Given the description of an element on the screen output the (x, y) to click on. 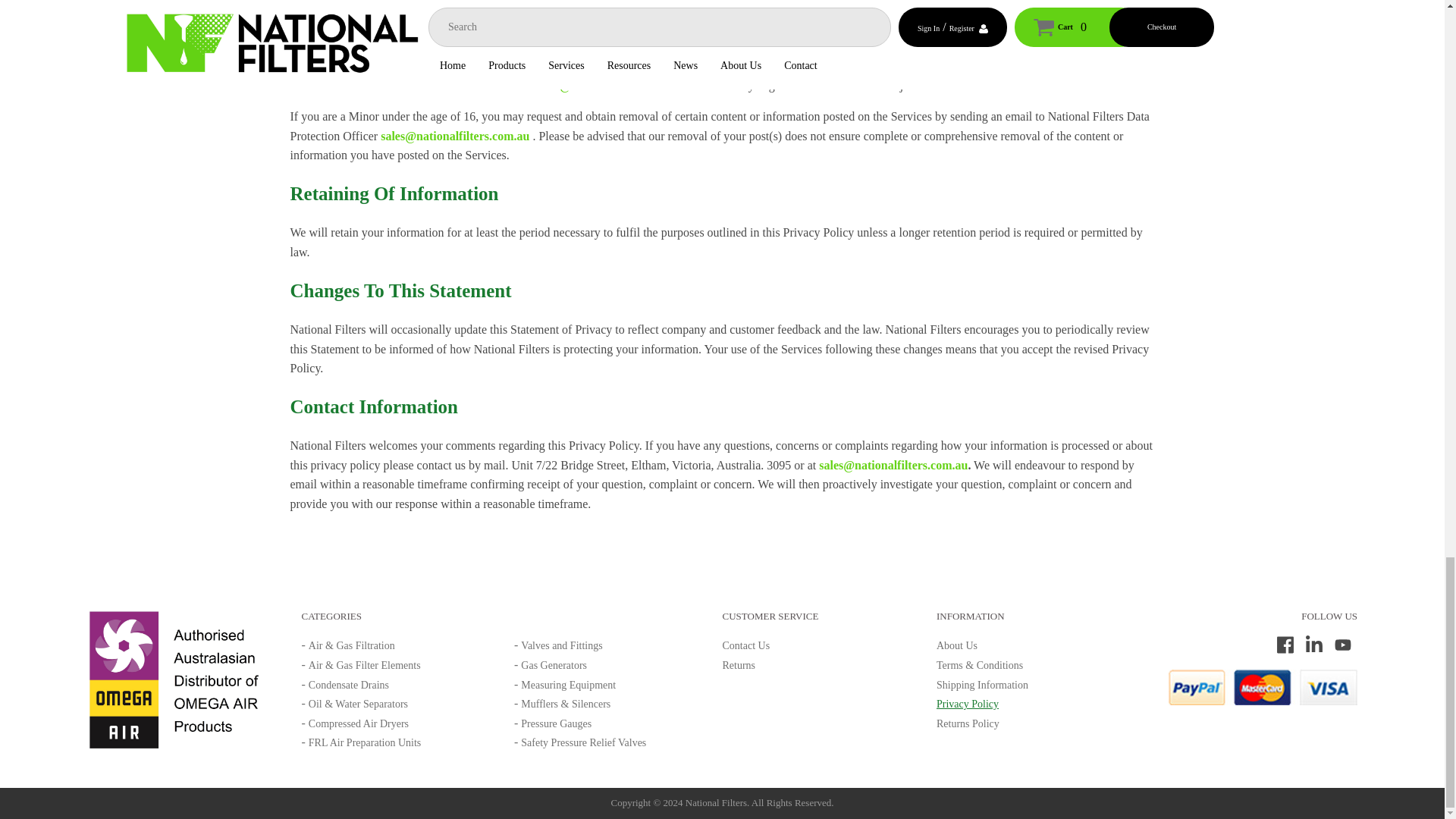
Returns Policy (967, 723)
Condensate Drains (348, 685)
Returns (738, 665)
Pressure Gauges (556, 723)
About Us (956, 645)
Measuring Equipment (568, 685)
Gas Generators (553, 665)
Privacy Policy (967, 704)
Valves and Fittings (561, 645)
FRL Air Preparation Units (364, 742)
